Given the description of an element on the screen output the (x, y) to click on. 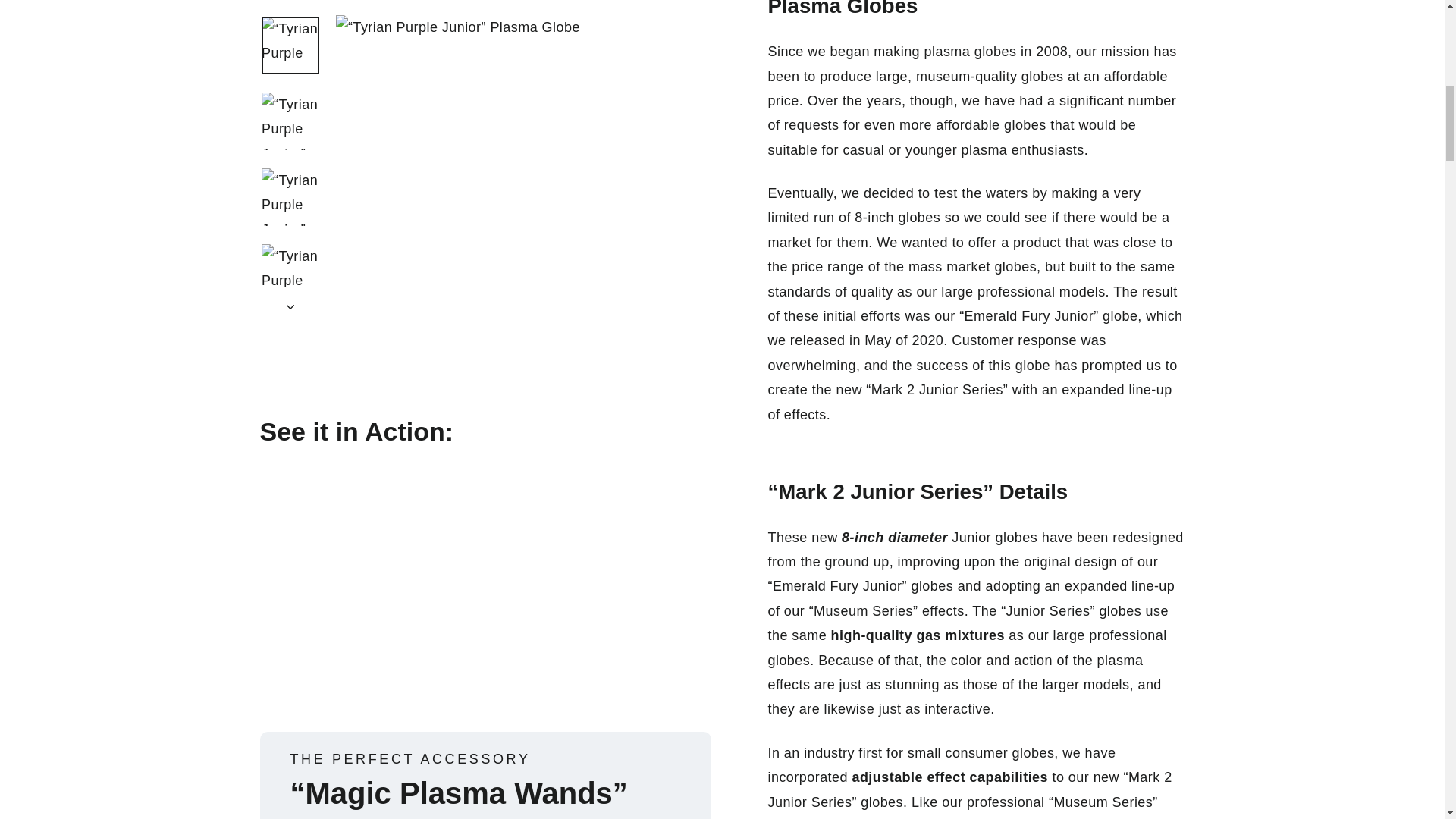
YouTube video player (484, 341)
